Given the description of an element on the screen output the (x, y) to click on. 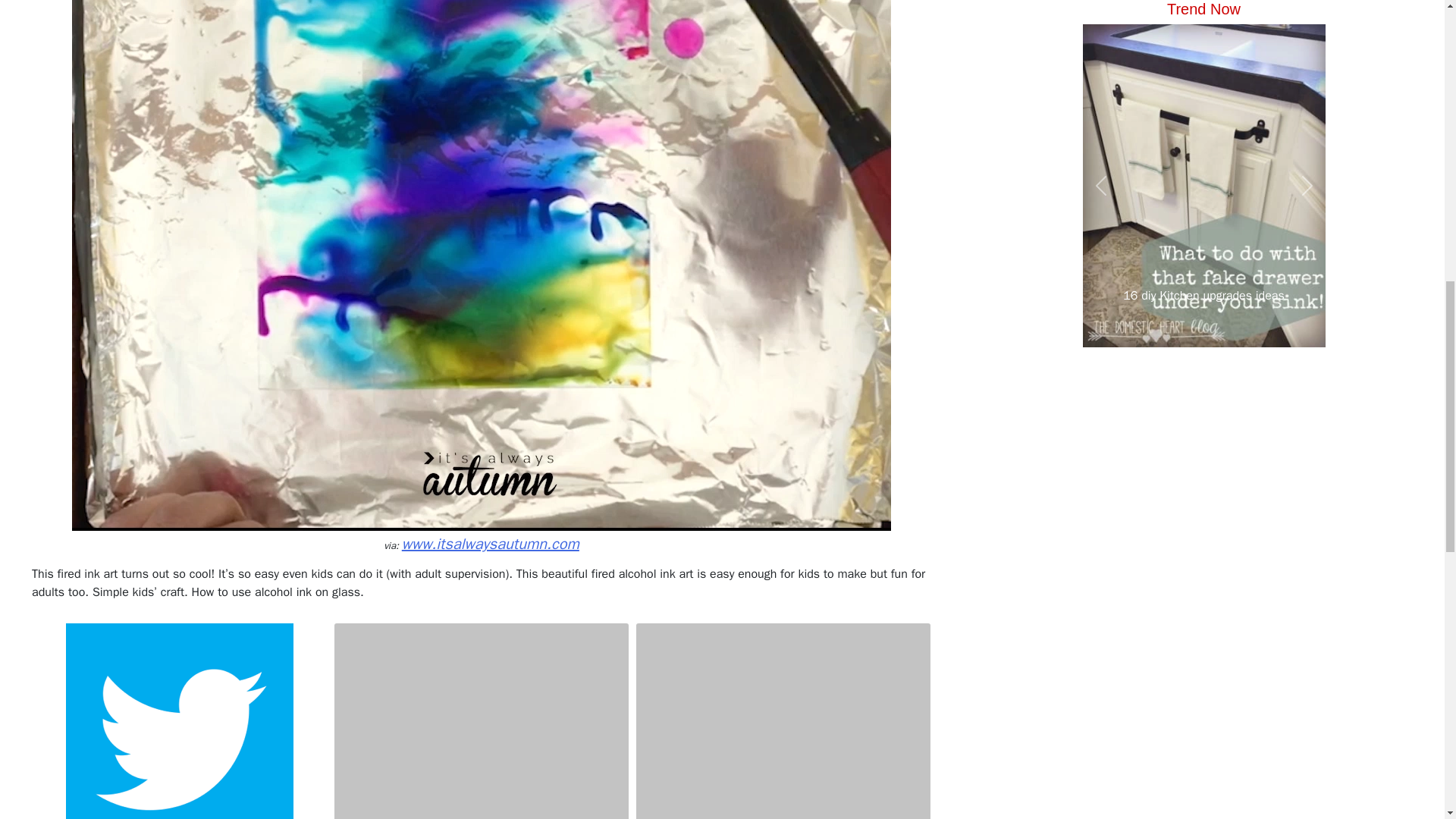
www.itsalwaysautumn.com (490, 543)
